Given the description of an element on the screen output the (x, y) to click on. 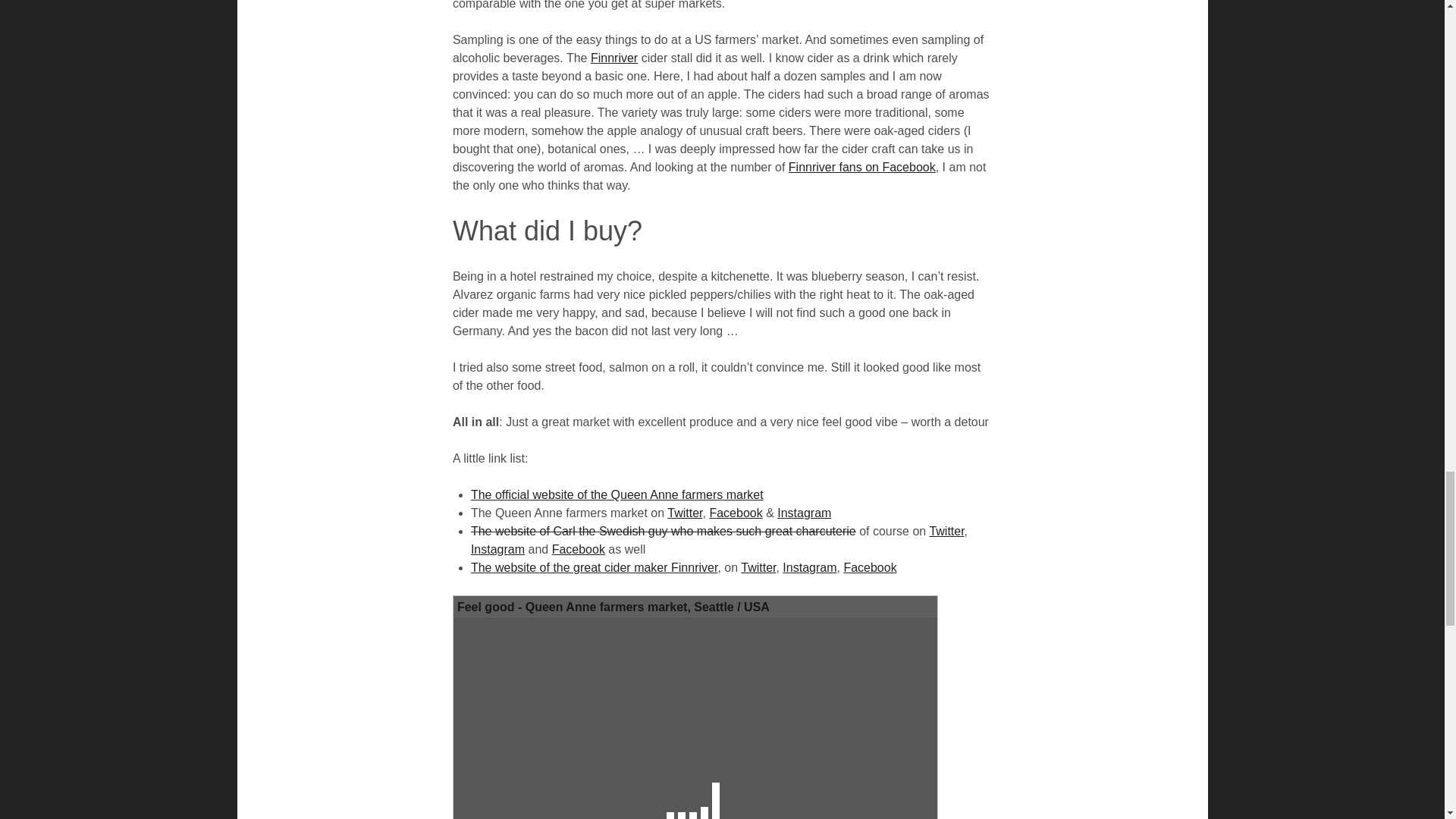
Finnriver fans on Facebook (862, 166)
Finnriver (614, 57)
The official website of the Queen Anne farmers market (616, 494)
Twitter (683, 512)
